Given the description of an element on the screen output the (x, y) to click on. 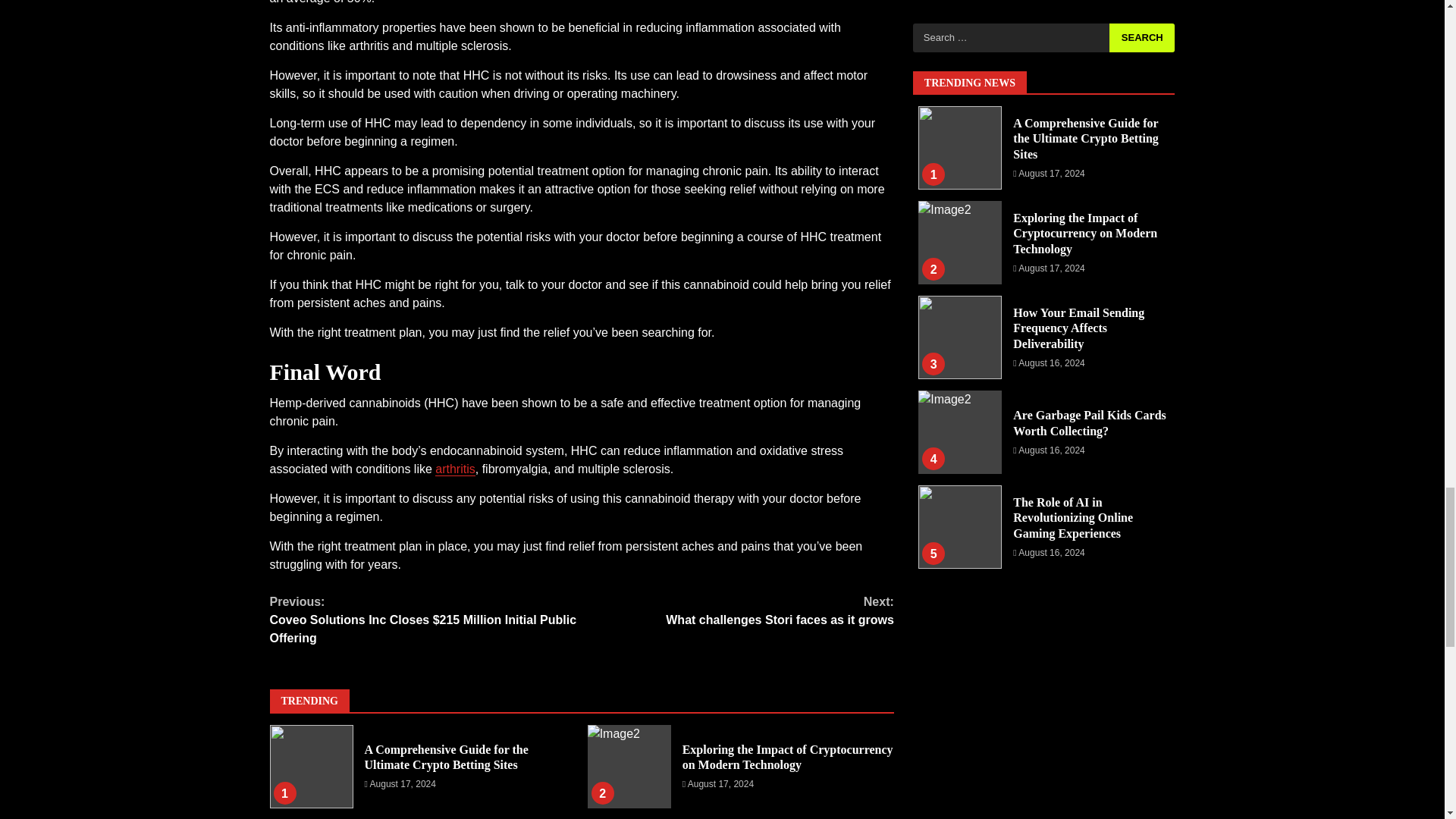
arthritis (454, 468)
A Comprehensive Guide for the Ultimate Crypto Betting Sites (445, 757)
Exploring the Impact of Cryptocurrency on Modern Technology (629, 766)
A Comprehensive Guide for the Ultimate Crypto Betting Sites (311, 766)
Exploring the Impact of Cryptocurrency on Modern Technology (736, 610)
